Given the description of an element on the screen output the (x, y) to click on. 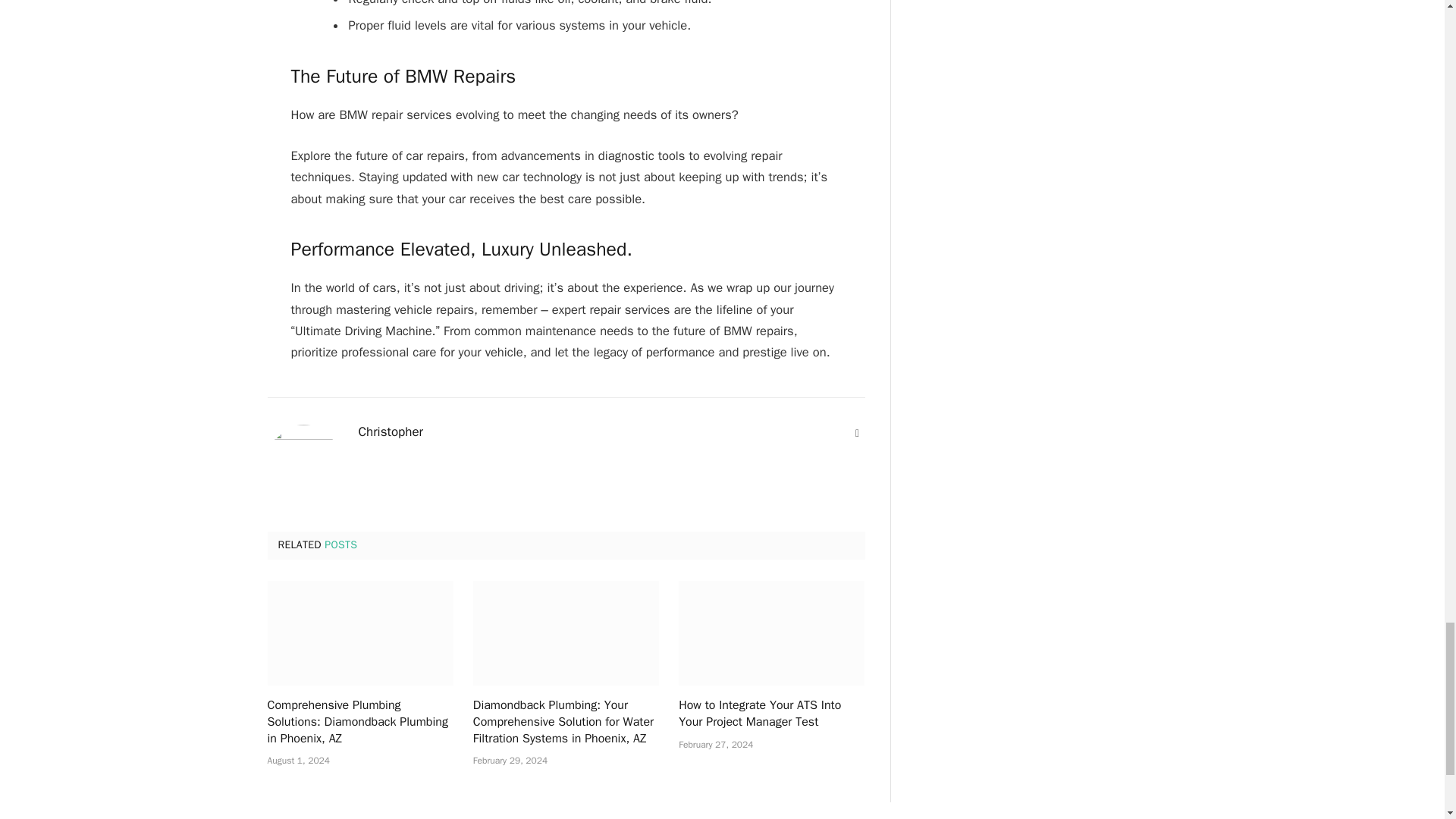
Posts by Christopher (390, 432)
How to Integrate Your ATS Into Your Project Manager Test (771, 714)
Website (856, 433)
How to Integrate Your ATS Into Your Project Manager Test (771, 632)
Christopher (390, 432)
Website (856, 433)
